Given the description of an element on the screen output the (x, y) to click on. 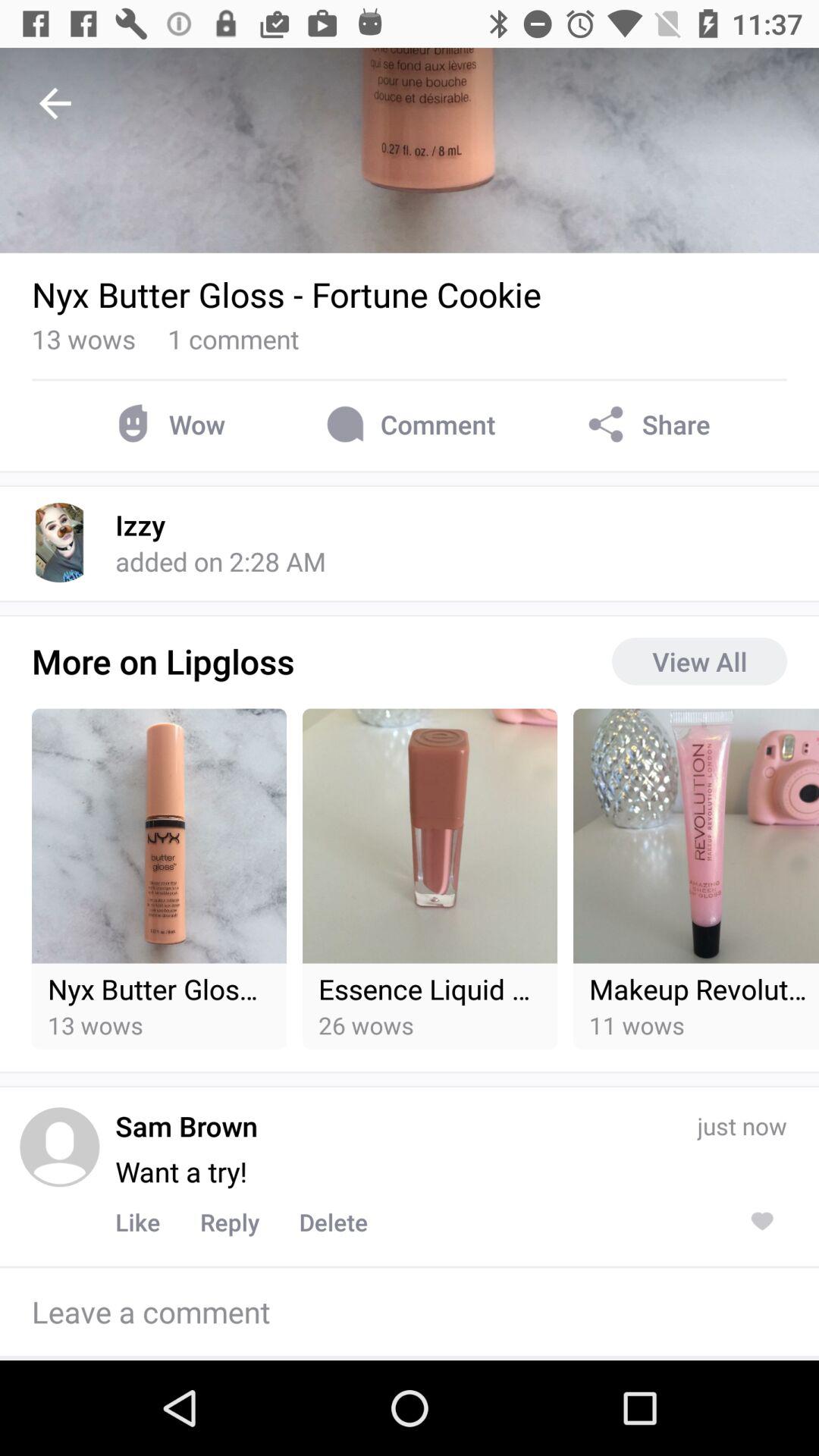
flip until share icon (646, 424)
